Given the description of an element on the screen output the (x, y) to click on. 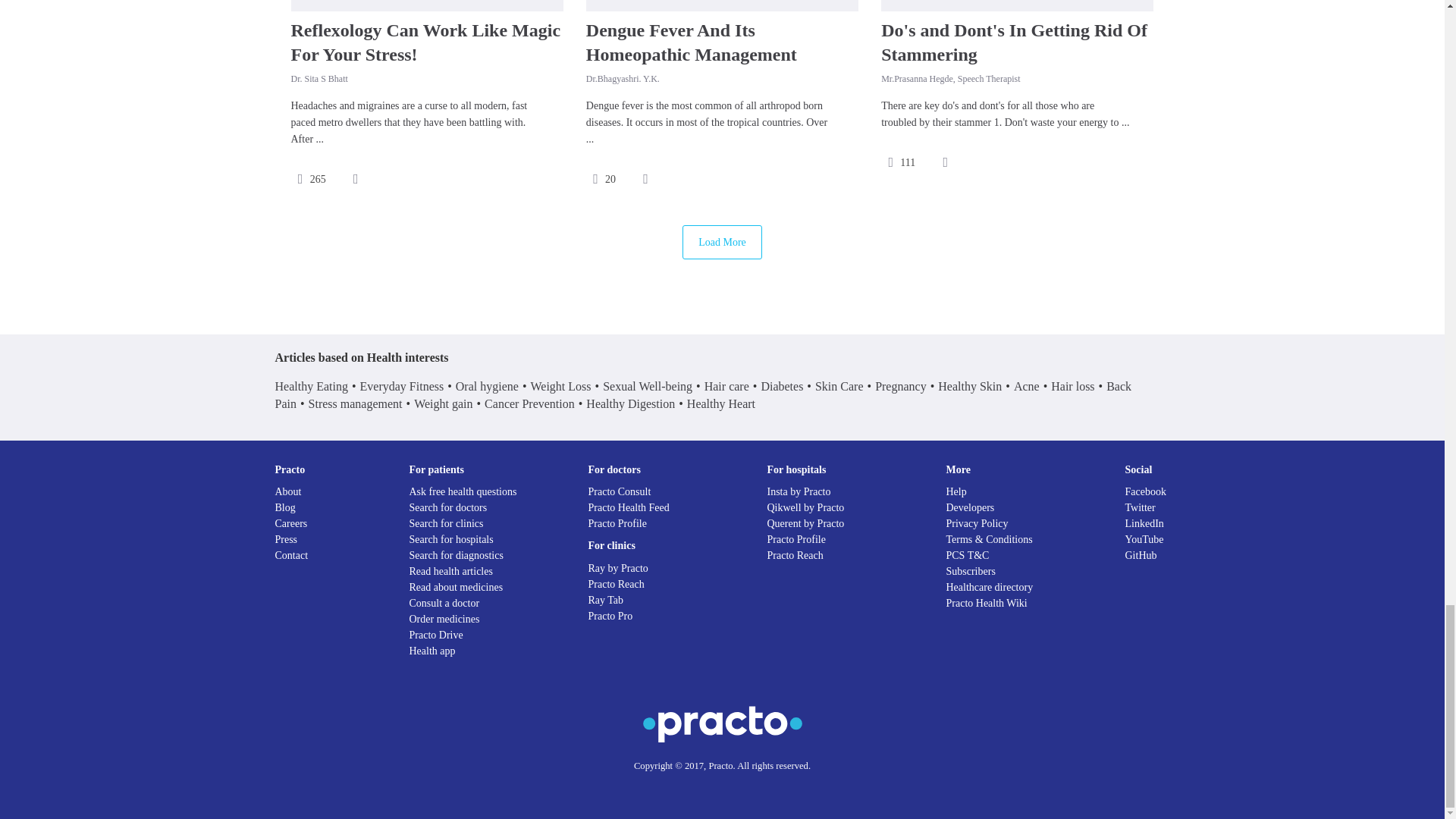
Search for clinics (446, 523)
Ask free health questions (462, 491)
Read about medicines (456, 586)
Search for hospitals (451, 539)
Consult a doctor (444, 603)
Contact (291, 555)
Order medicines (444, 618)
Press (286, 539)
Careers (291, 523)
Search for doctors (448, 507)
Practo Drive (436, 634)
Search for diagnostics (456, 555)
About (288, 491)
Read Health Articles (451, 571)
Blog (285, 507)
